Given the description of an element on the screen output the (x, y) to click on. 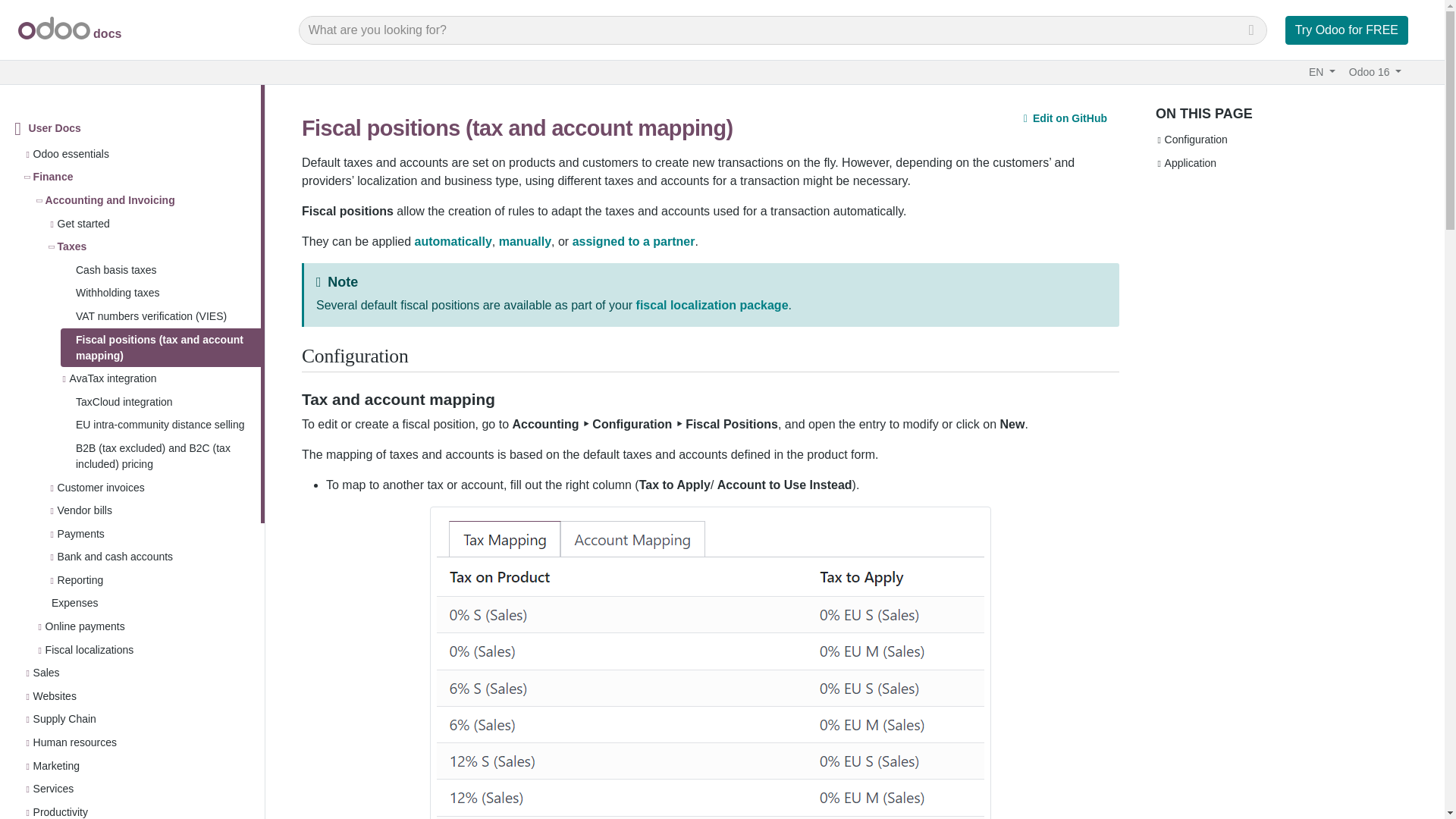
Finance (53, 177)
EU intra-community distance selling (160, 425)
Withholding taxes (160, 293)
Odoo essentials (71, 154)
Accounting and Invoicing (110, 200)
Taxes (71, 246)
Get started (83, 223)
Customer invoices (100, 487)
User Docs (54, 128)
TaxCloud integration (160, 402)
